Given the description of an element on the screen output the (x, y) to click on. 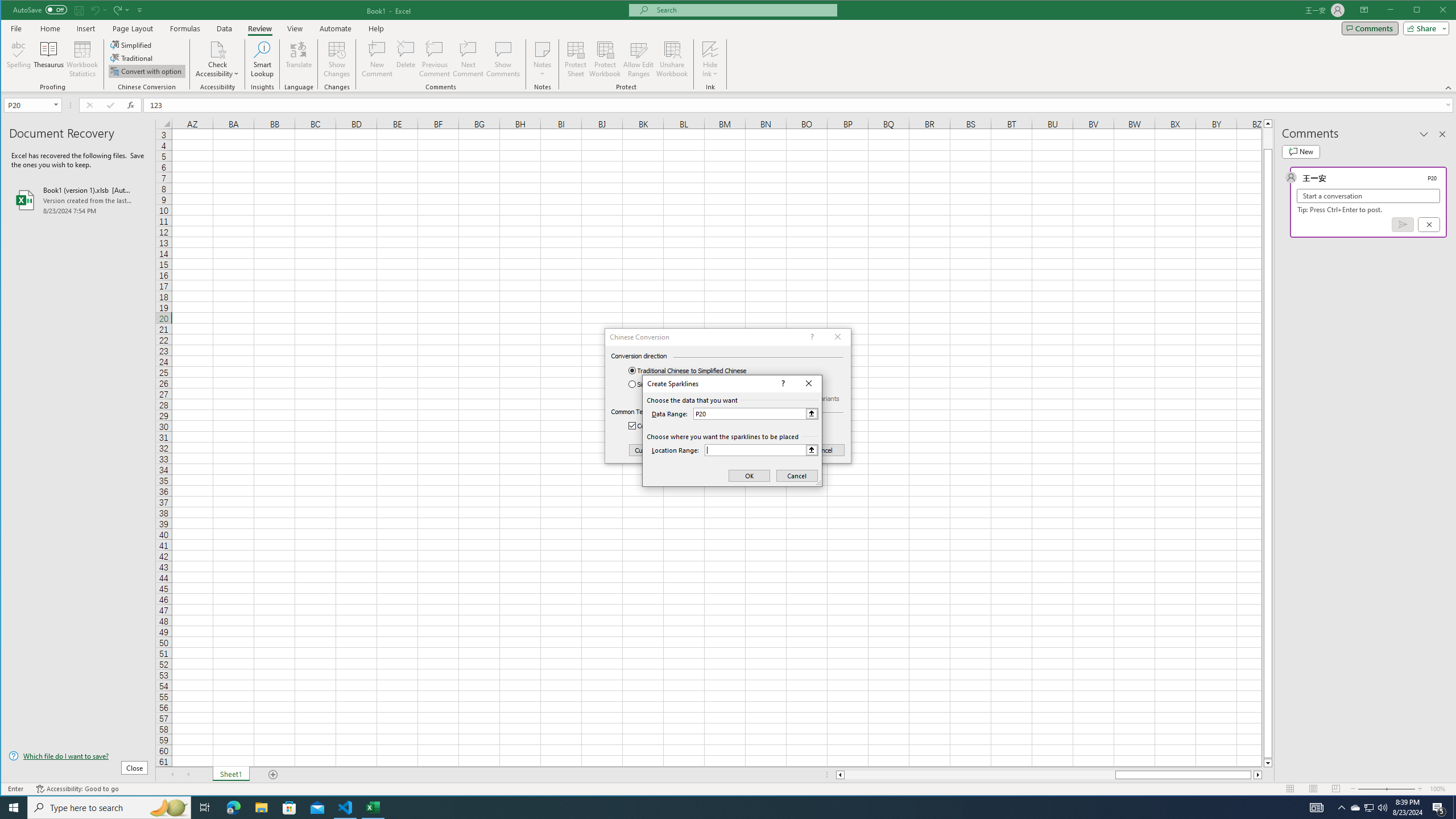
Post comment (Ctrl + Enter) (1402, 224)
New Comment (377, 59)
Hide Ink (710, 48)
File Explorer (261, 807)
Check Accessibility (217, 48)
Notification Chevron (1341, 807)
Translate (298, 59)
